Given the description of an element on the screen output the (x, y) to click on. 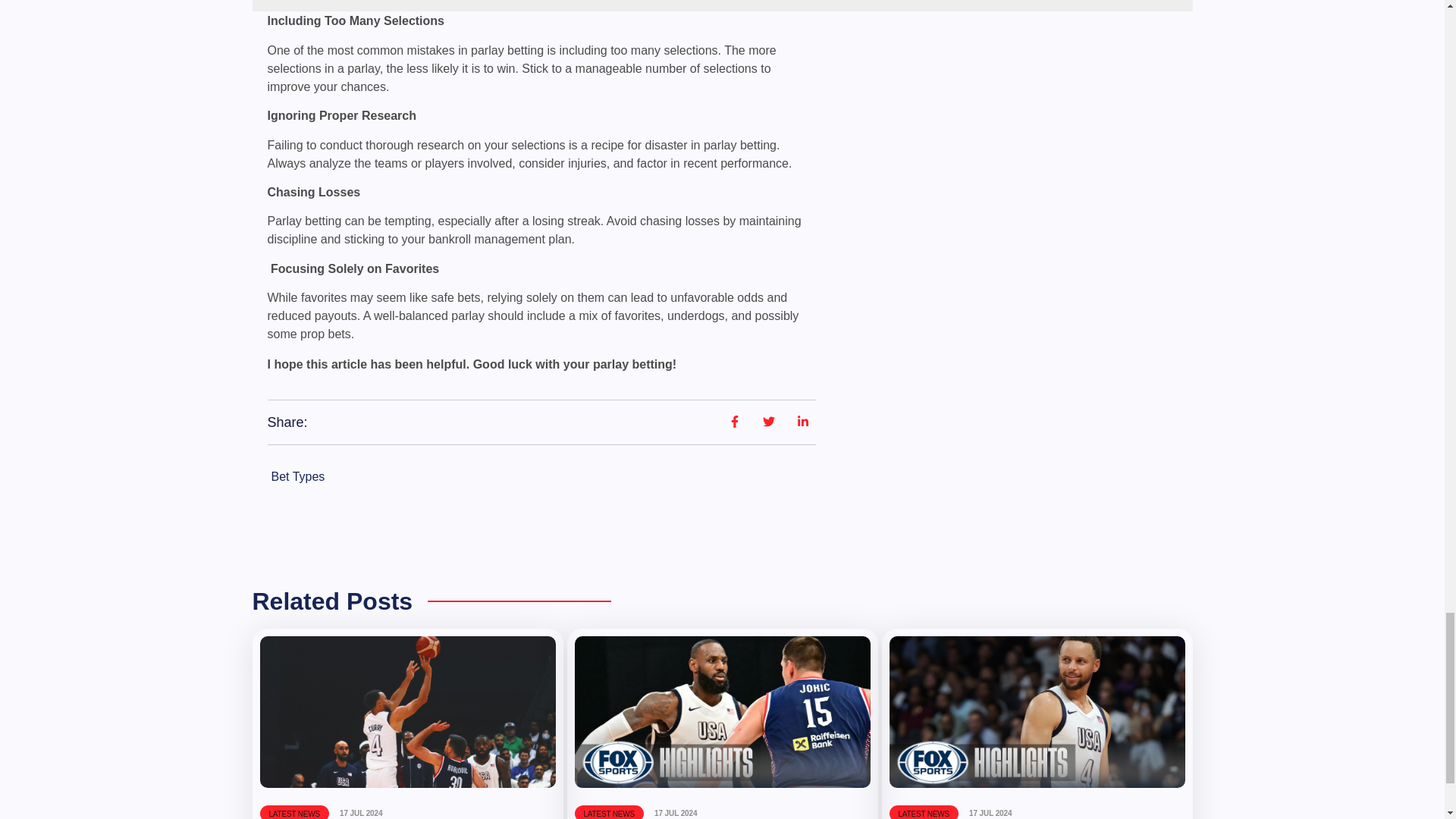
Bet Types (297, 476)
